Given the description of an element on the screen output the (x, y) to click on. 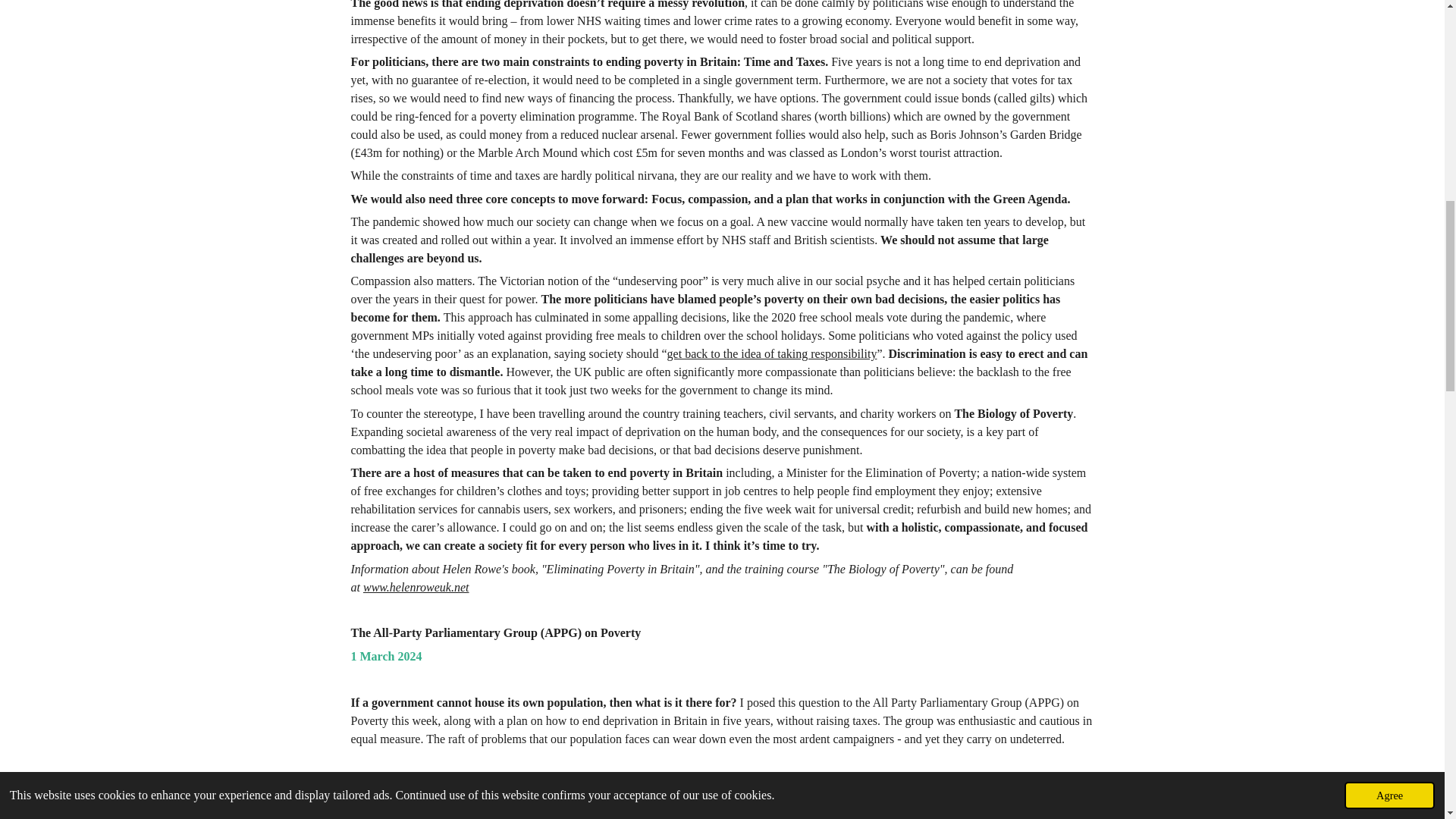
get back to the idea of taking responsibility (771, 353)
Agree (1388, 26)
www.helenroweuk.net (415, 586)
